Given the description of an element on the screen output the (x, y) to click on. 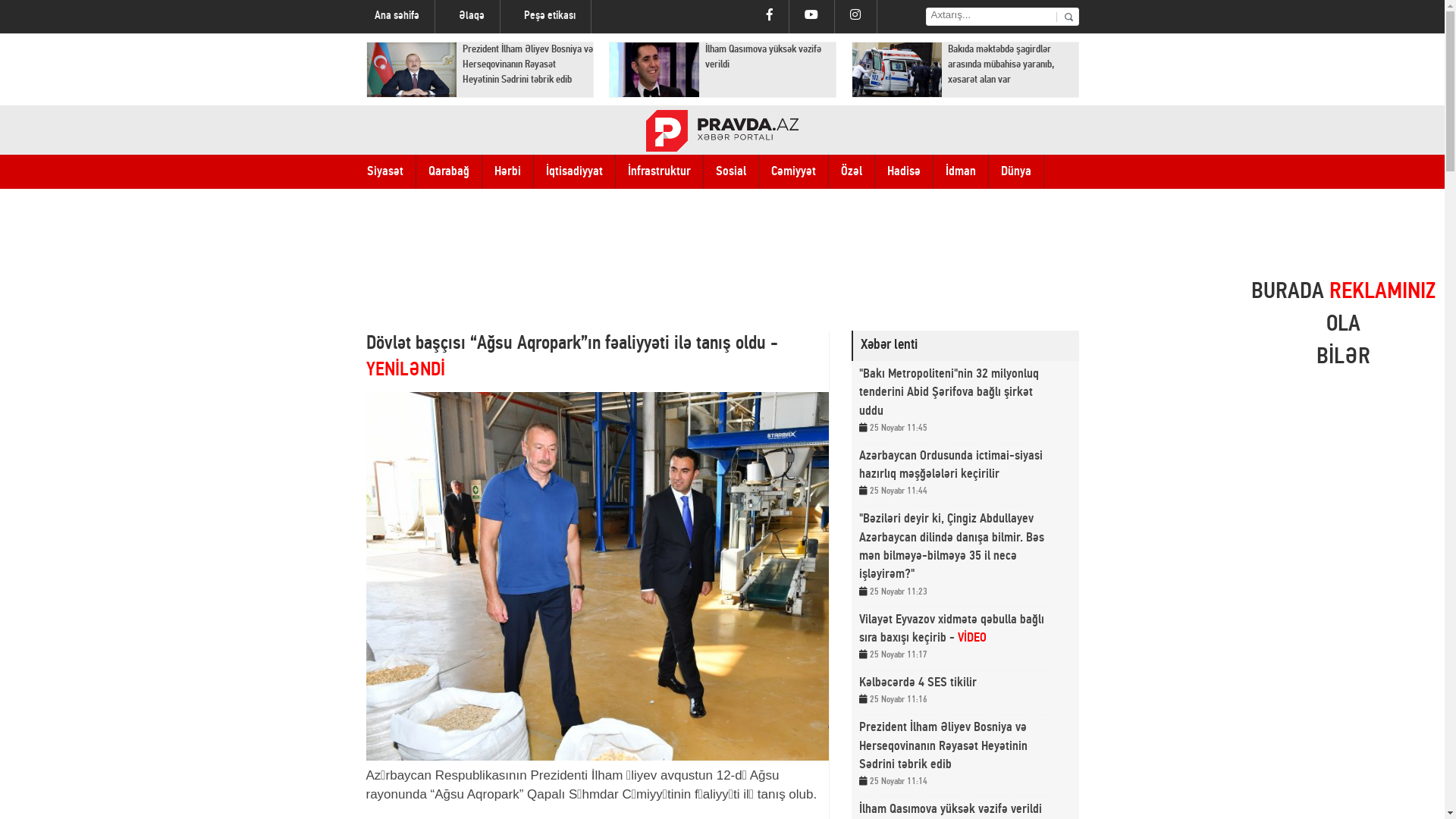
Sosial Element type: text (731, 171)
